Given the description of an element on the screen output the (x, y) to click on. 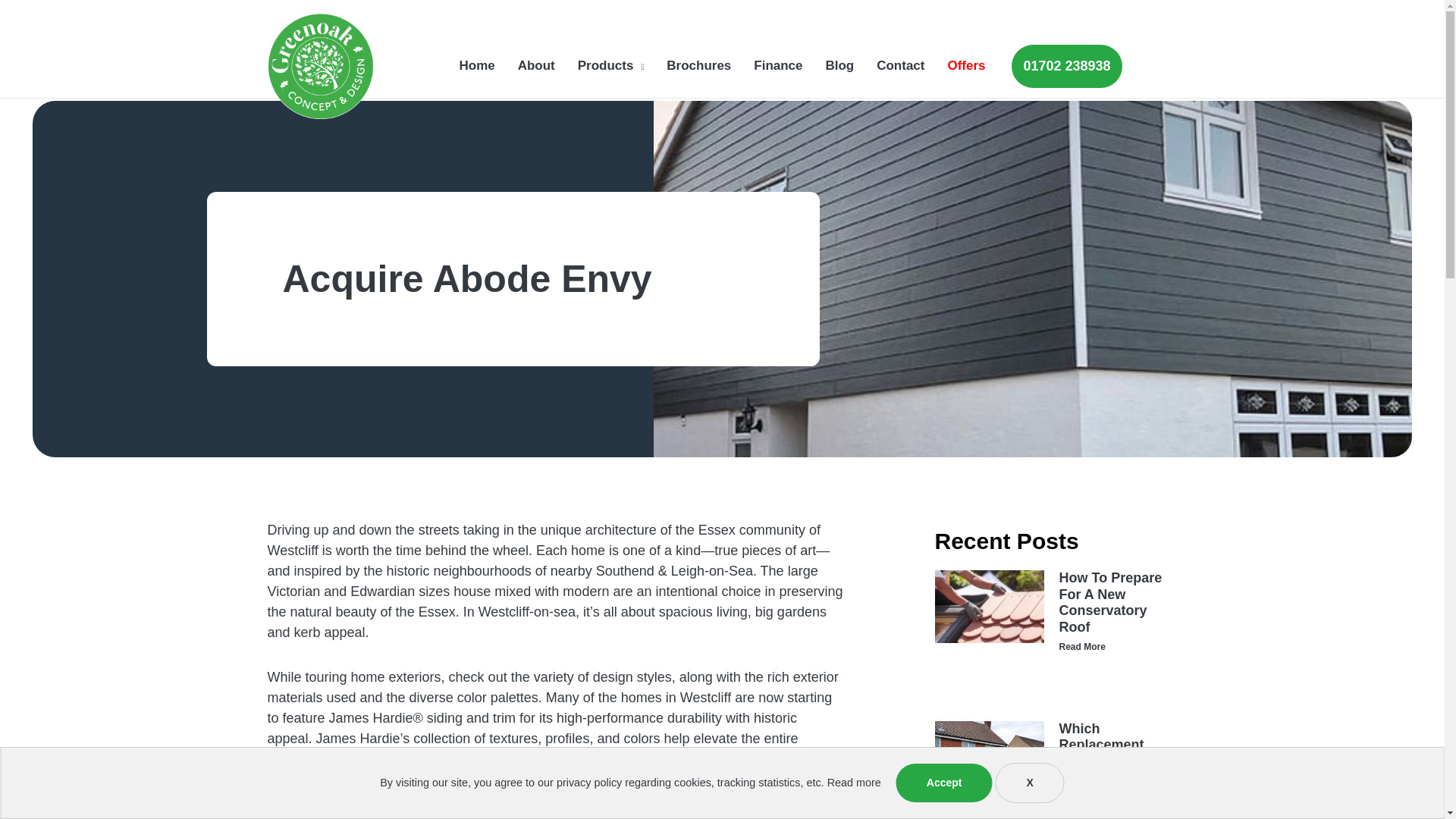
Contact (900, 65)
Offers (965, 65)
Brochures (698, 65)
Accept (944, 782)
Finance (777, 65)
Products (611, 65)
About (536, 65)
Blog (838, 65)
X (1029, 782)
Read more (853, 782)
Home (477, 65)
